Given the description of an element on the screen output the (x, y) to click on. 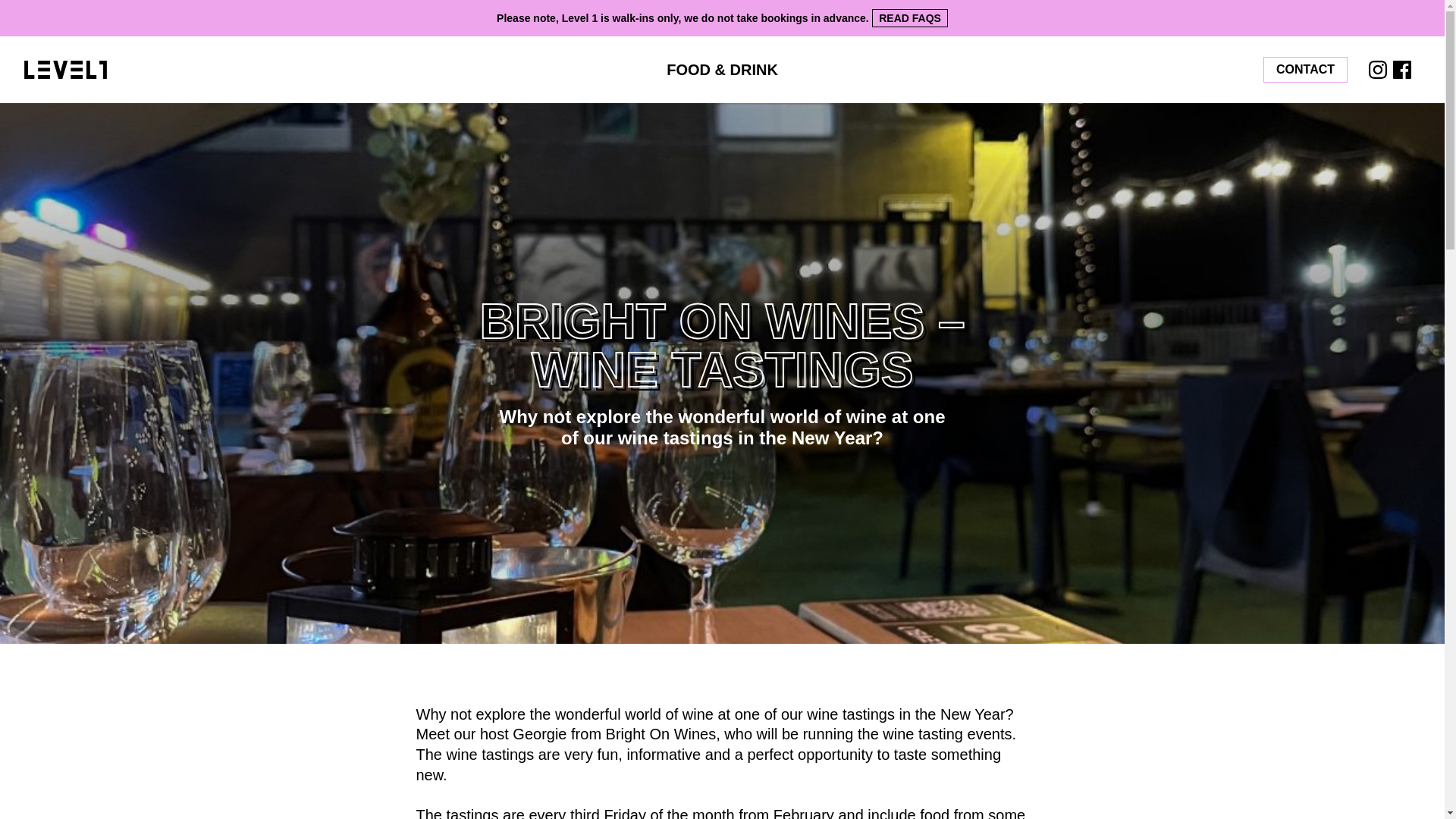
Return to the home page (238, 69)
Find us on Instagram (1377, 69)
Find us on Facebook (1401, 69)
CONTACT (1305, 69)
READ FAQS (909, 18)
